Given the description of an element on the screen output the (x, y) to click on. 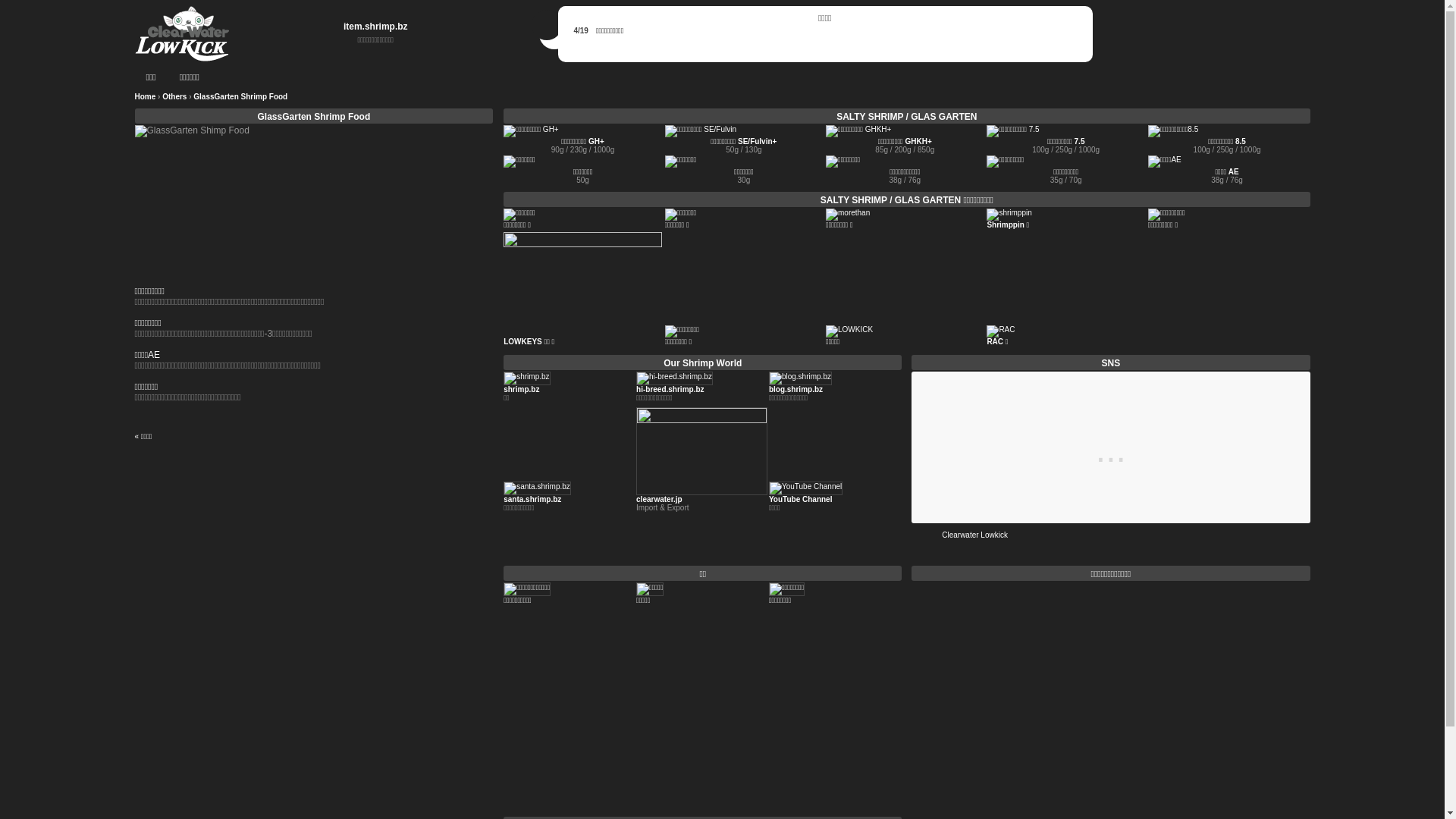
santa.shrimp.bz Element type: text (532, 499)
Home Element type: text (145, 96)
item.shrimp.bz Element type: hover (181, 34)
shrimp.bz Element type: text (521, 389)
GlassGarten Shrimp Food Element type: text (313, 116)
blog.shrimp.bz Element type: text (795, 389)
clearwater.jp Element type: text (659, 499)
YouTube Channel Element type: text (800, 499)
Clearwater Lowkick Element type: text (974, 534)
Others Element type: text (174, 96)
item.shrimp.bz Element type: text (375, 26)
GlassGarten Shrimp Food Element type: text (240, 96)
hi-breed.shrimp.bz Element type: text (669, 389)
